Given the description of an element on the screen output the (x, y) to click on. 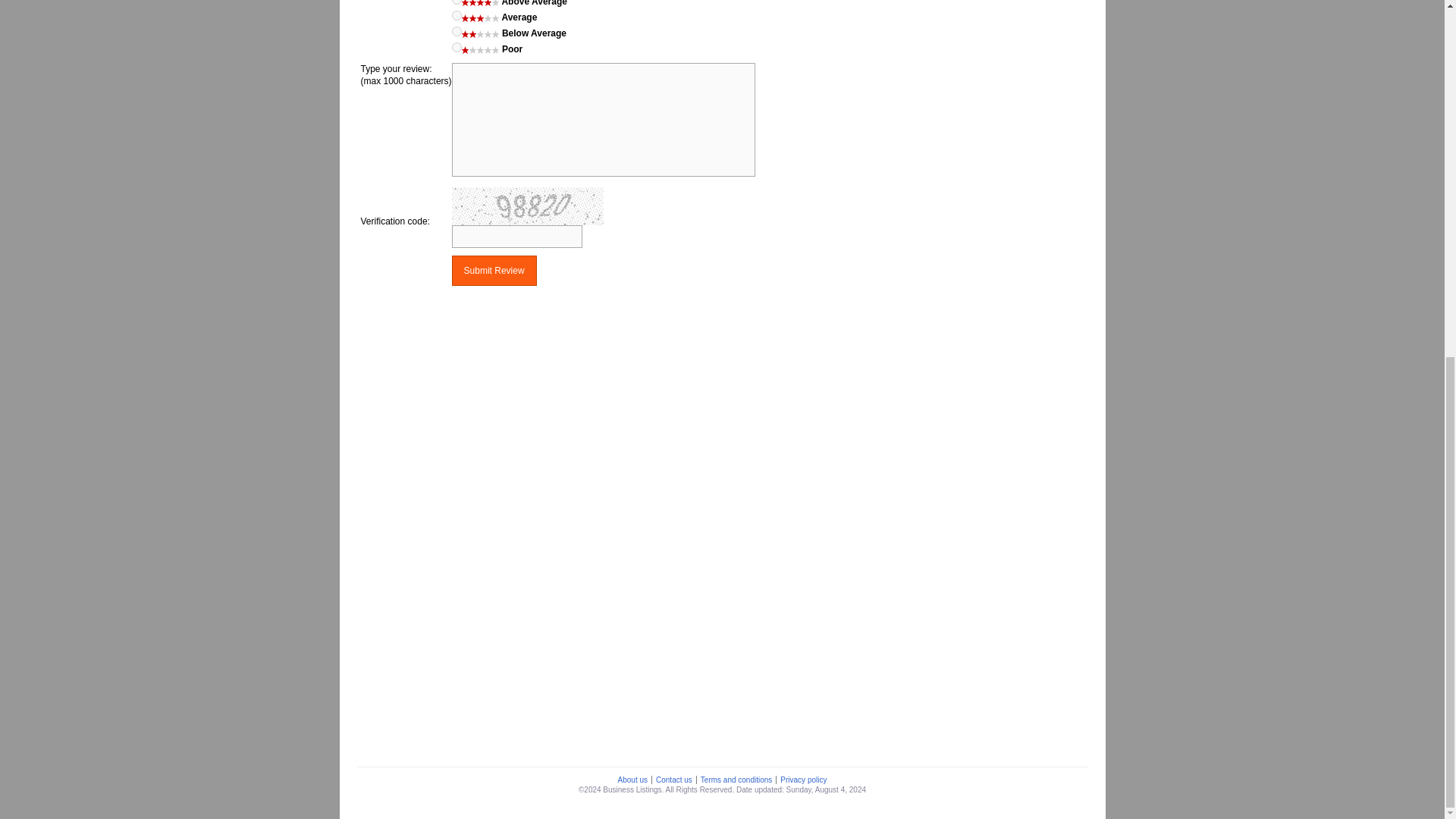
1 (456, 47)
3 (456, 15)
2 (456, 31)
4 (456, 2)
Privacy policy (802, 779)
Terms and conditions (736, 779)
About us (632, 779)
Contact us (673, 779)
Submit Review (494, 270)
Submit Review (494, 270)
